Given the description of an element on the screen output the (x, y) to click on. 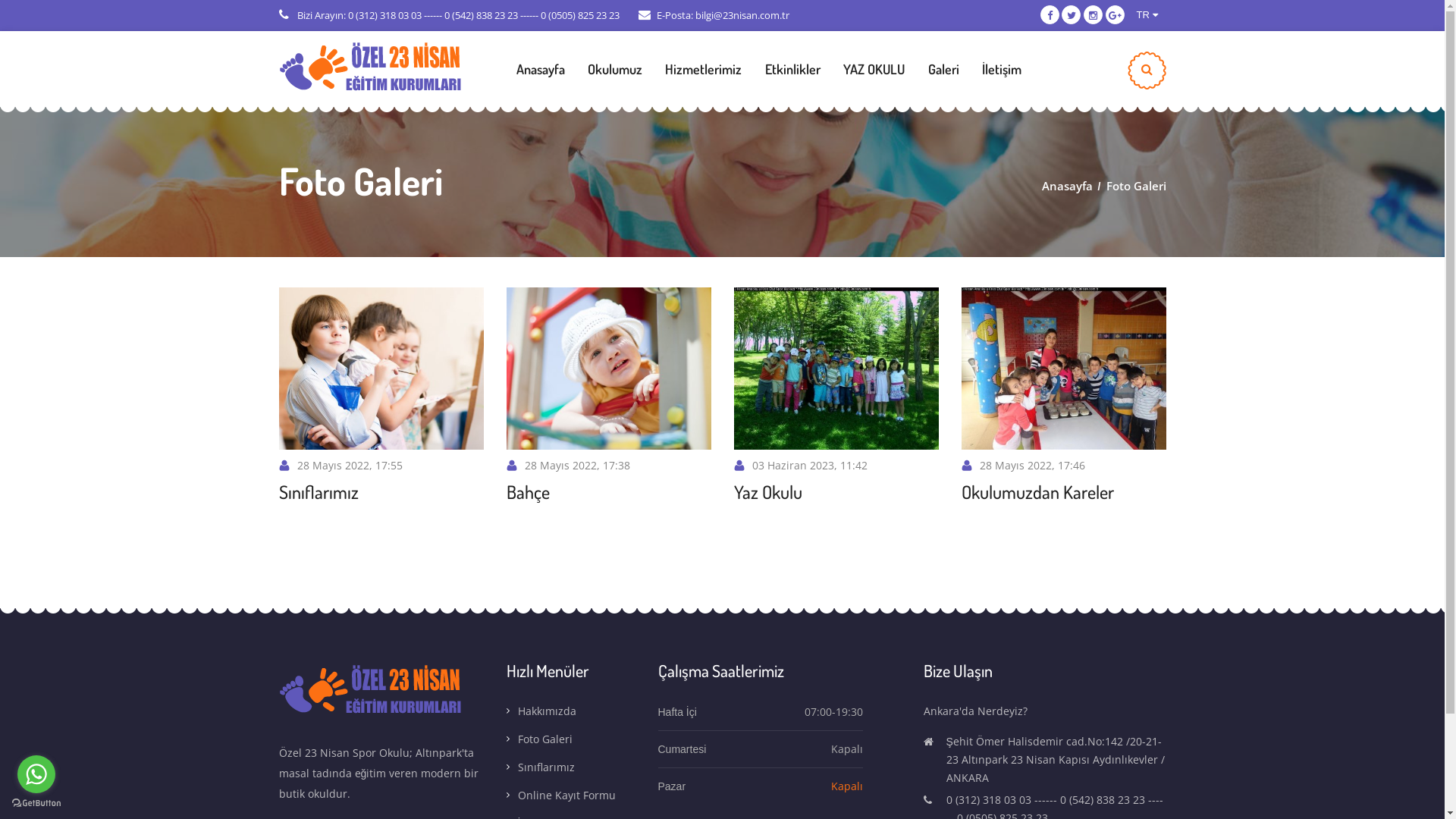
Galeri Element type: text (943, 77)
Hizmetlerimiz Element type: text (703, 77)
Anasayfa Element type: text (540, 77)
Foto Galeri Element type: text (570, 742)
Okulumuzdan Kareler Element type: text (1037, 492)
TR Element type: text (1147, 15)
Anasayfa Element type: text (1066, 185)
Etkinlikler Element type: text (792, 77)
Okulumuz Element type: text (614, 77)
YAZ OKULU Element type: text (873, 77)
Foto Galeri Element type: text (1135, 185)
E-Posta: bilgi@23nisan.com.tr Element type: text (713, 15)
Yaz Okulu Element type: text (768, 492)
